Given the description of an element on the screen output the (x, y) to click on. 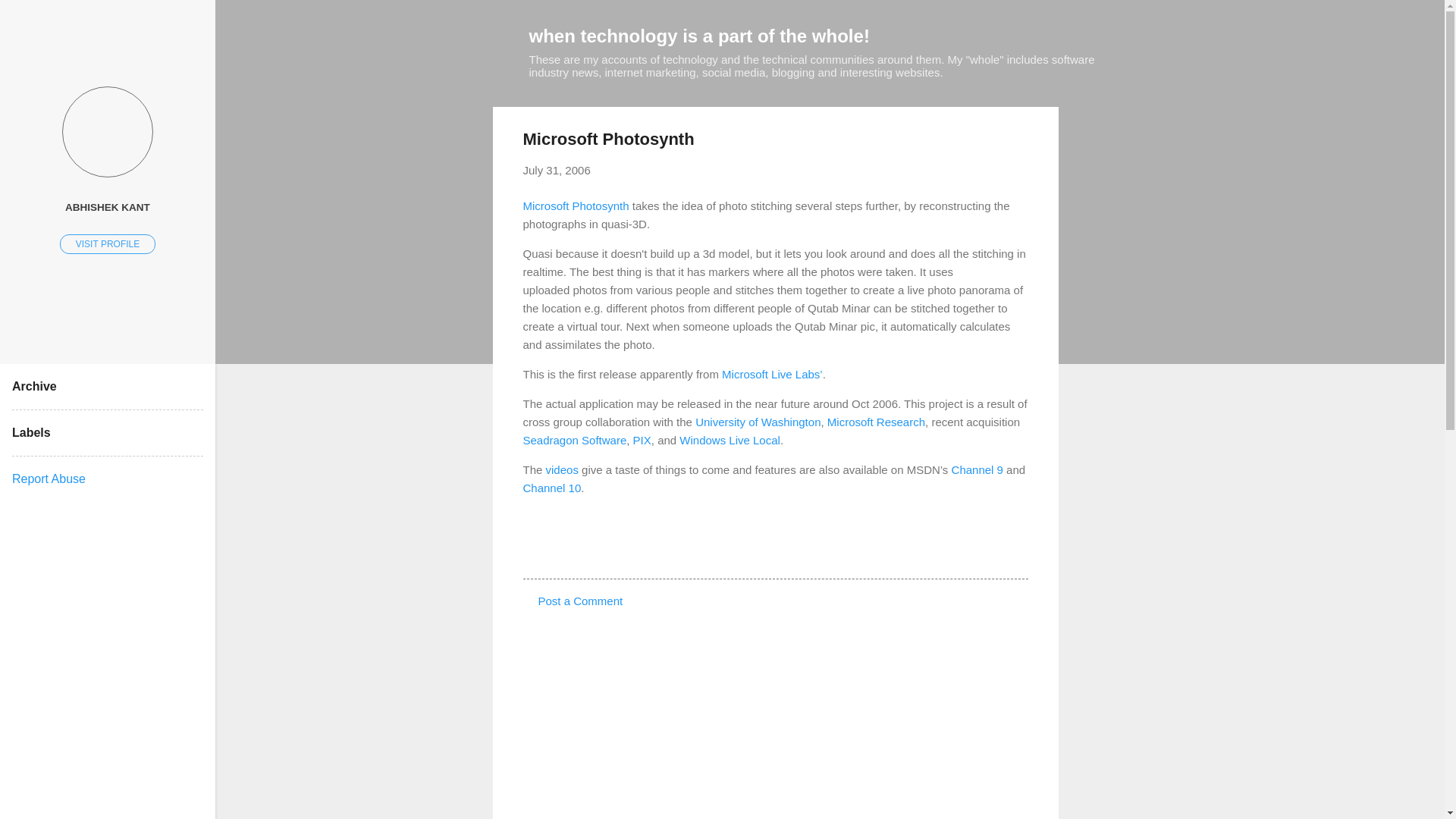
permanent link (556, 169)
University of Washington (758, 421)
ABHISHEK KANT (107, 206)
when technology is a part of the whole! (699, 35)
Windows Live Local (729, 440)
videos (562, 468)
Channel 10 (551, 486)
PIX (641, 440)
July 31, 2006 (556, 169)
Microsoft Research (875, 421)
Search (29, 18)
Microsoft Photosynth (575, 205)
Seadragon Software (574, 440)
Channel 9 (977, 468)
Email Post (562, 550)
